Given the description of an element on the screen output the (x, y) to click on. 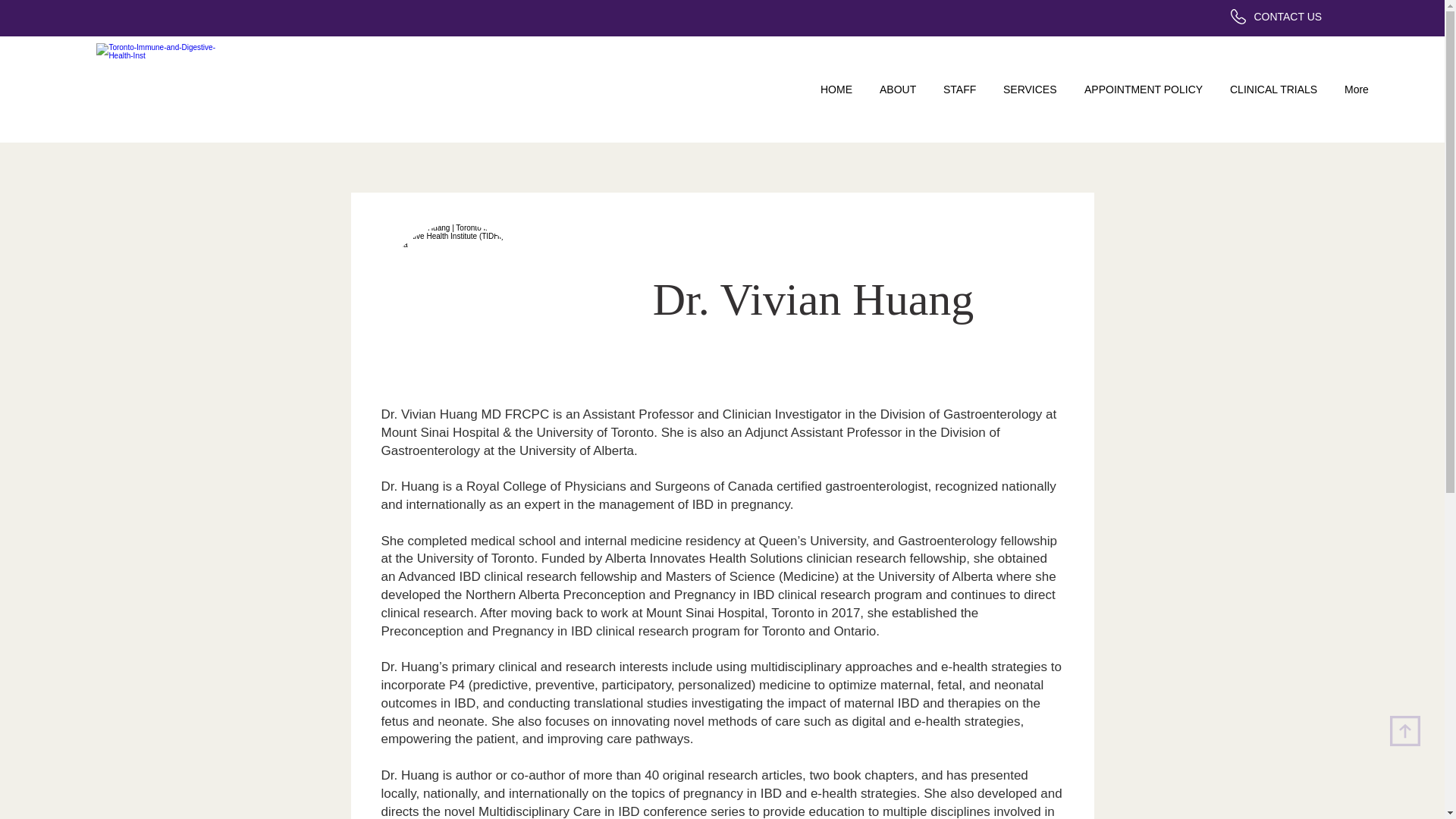
CONTACT US (1287, 16)
APPOINTMENT POLICY (1144, 89)
CLINICAL TRIALS (1274, 89)
HOME (838, 89)
SERVICES (1031, 89)
ABOUT (899, 89)
STAFF (961, 89)
